Given the description of an element on the screen output the (x, y) to click on. 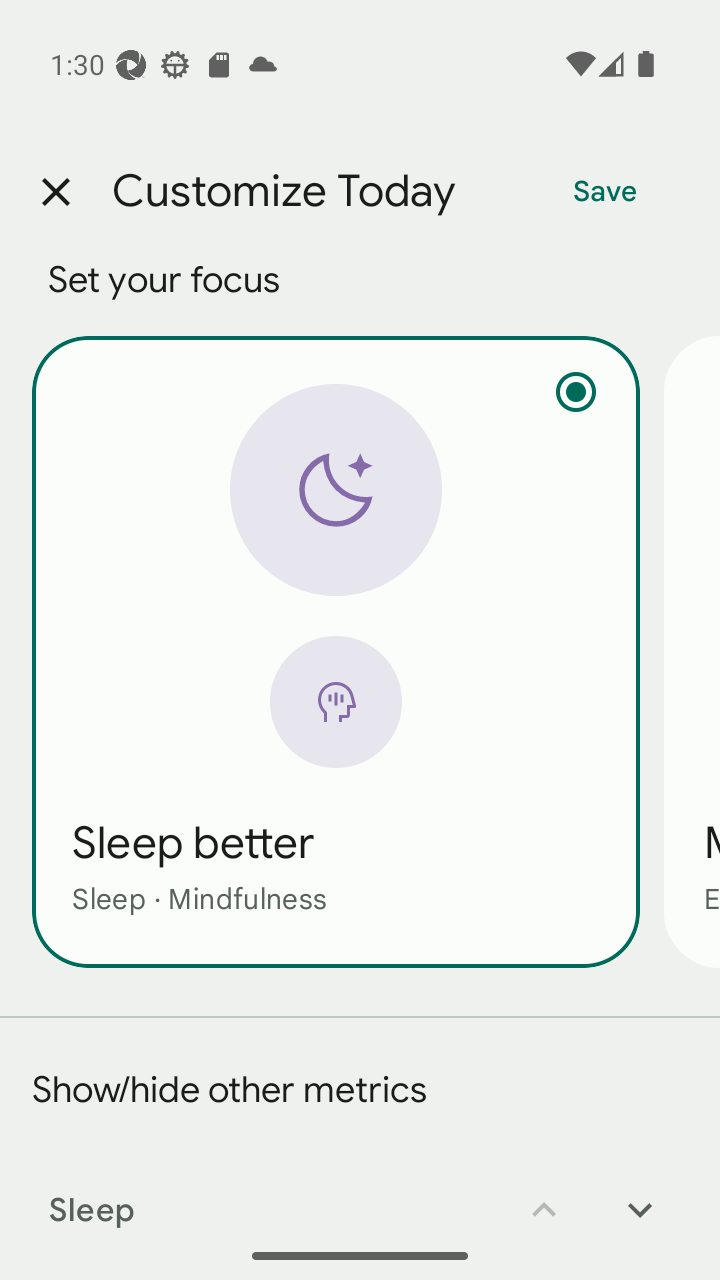
Close (55, 191)
Save (605, 191)
Sleep better Sleep · Mindfulness (335, 651)
Move Sleep up (543, 1196)
Move Sleep down (639, 1196)
